Given the description of an element on the screen output the (x, y) to click on. 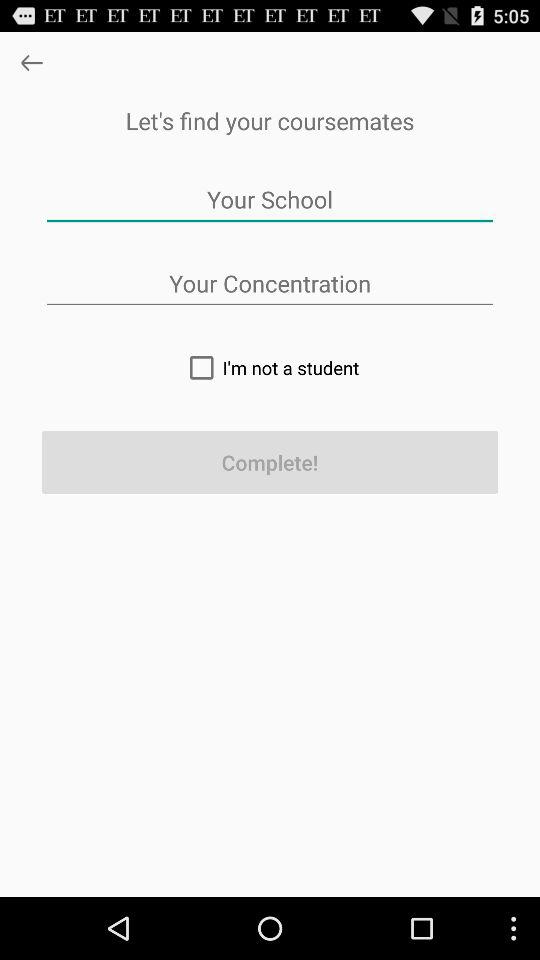
go back (31, 62)
